Given the description of an element on the screen output the (x, y) to click on. 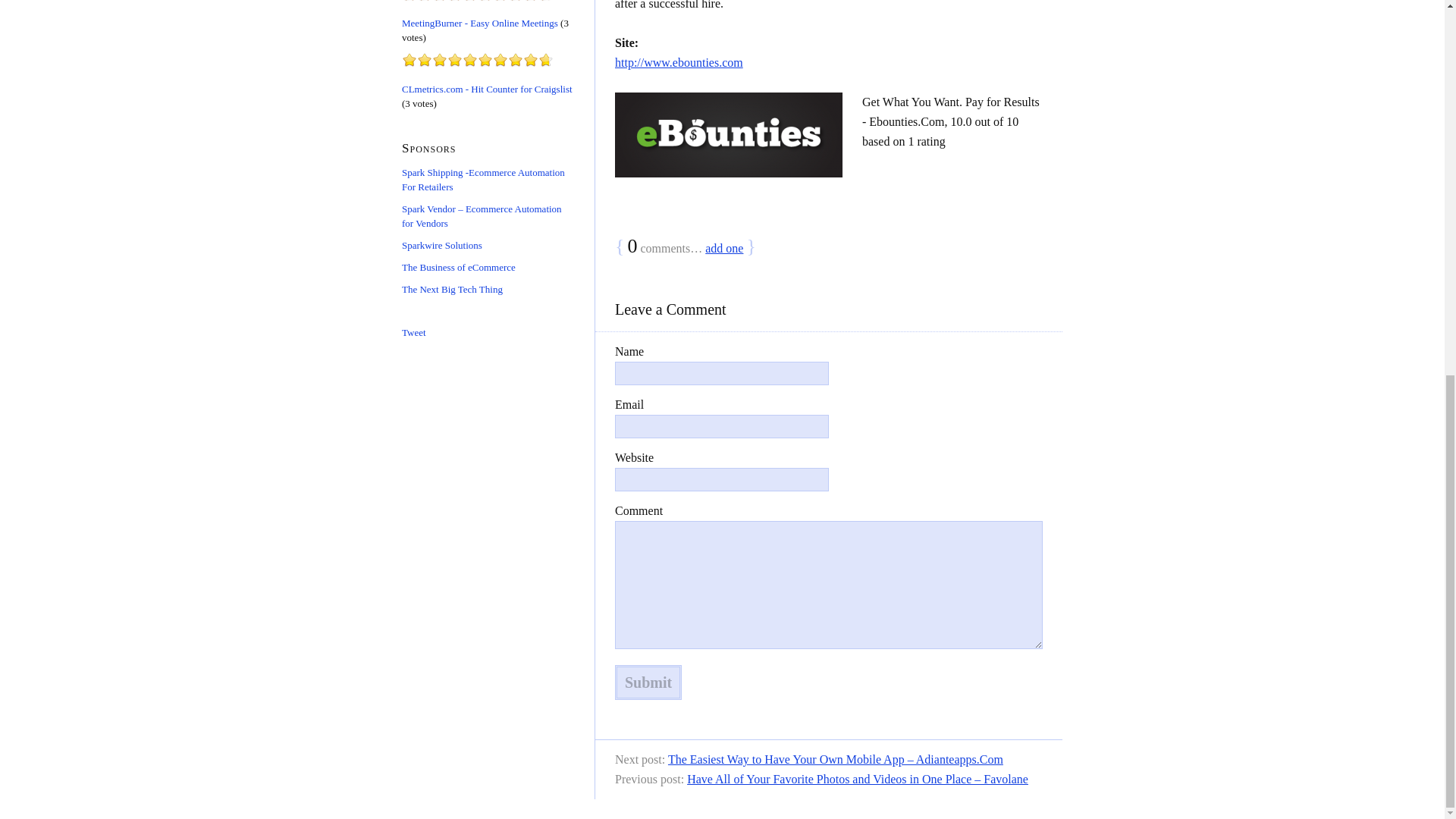
Tweet (413, 331)
The Business of eCommerce (458, 266)
Sparkwire Solutions (441, 244)
Spark Shipping -Ecommerce Automation For Retailers (482, 179)
Submit (647, 682)
Submit (647, 682)
MeetingBurner - Easy Online Meetings (479, 21)
The Next Big Tech Thing (451, 288)
add one (723, 246)
CLmetrics.com - Hit Counter for Craigslist (486, 89)
